Given the description of an element on the screen output the (x, y) to click on. 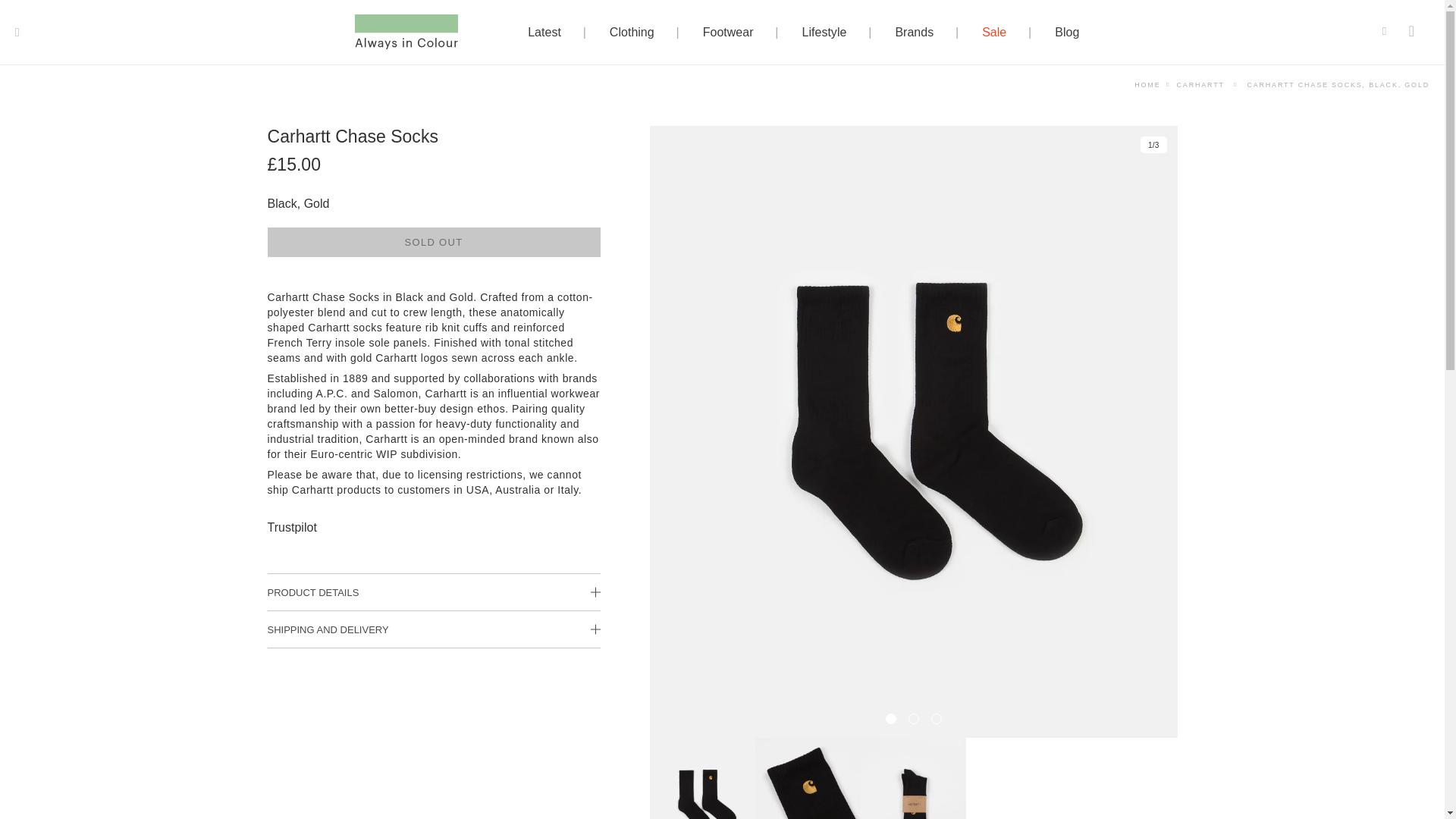
Home (1147, 84)
